Given the description of an element on the screen output the (x, y) to click on. 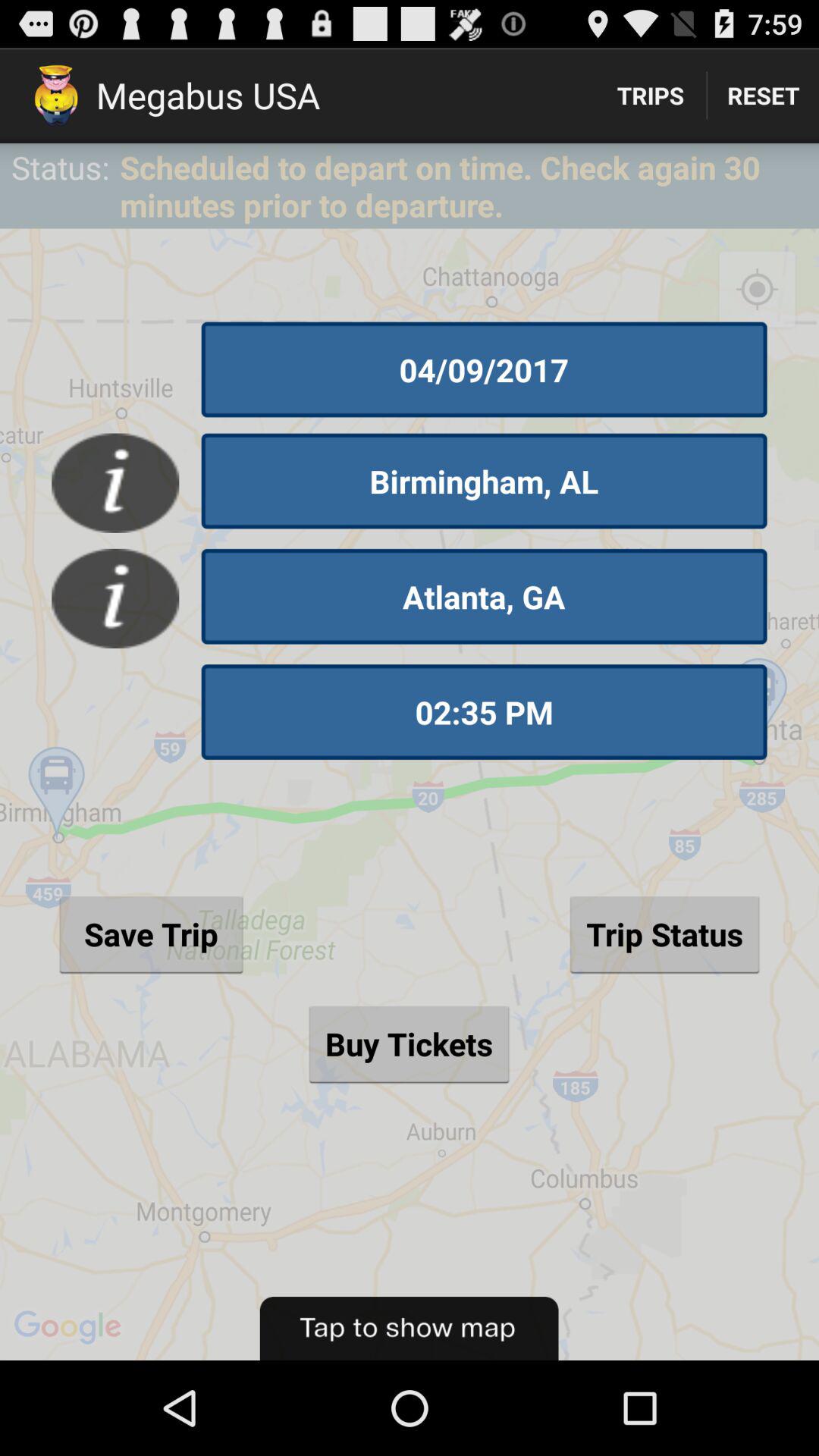
select item next to birmingham, al icon (115, 482)
